Given the description of an element on the screen output the (x, y) to click on. 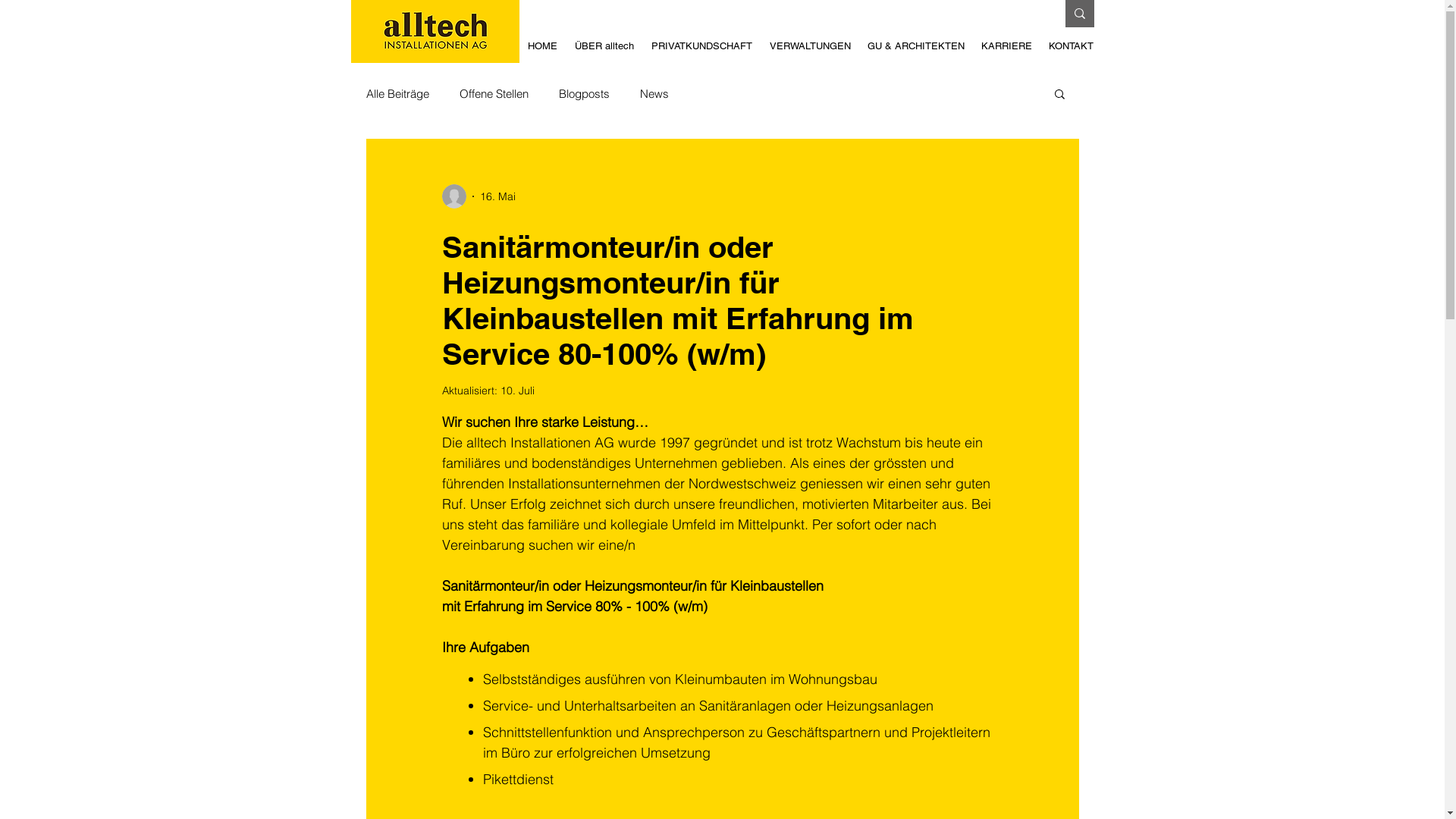
HOME Element type: text (541, 45)
Blogposts Element type: text (583, 93)
Offene Stellen Element type: text (493, 93)
News Element type: text (654, 93)
KARRIERE Element type: text (1005, 45)
PRIVATKUNDSCHAFT Element type: text (702, 45)
VERWALTUNGEN Element type: text (810, 45)
KONTAKT Element type: text (1070, 45)
